Given the description of an element on the screen output the (x, y) to click on. 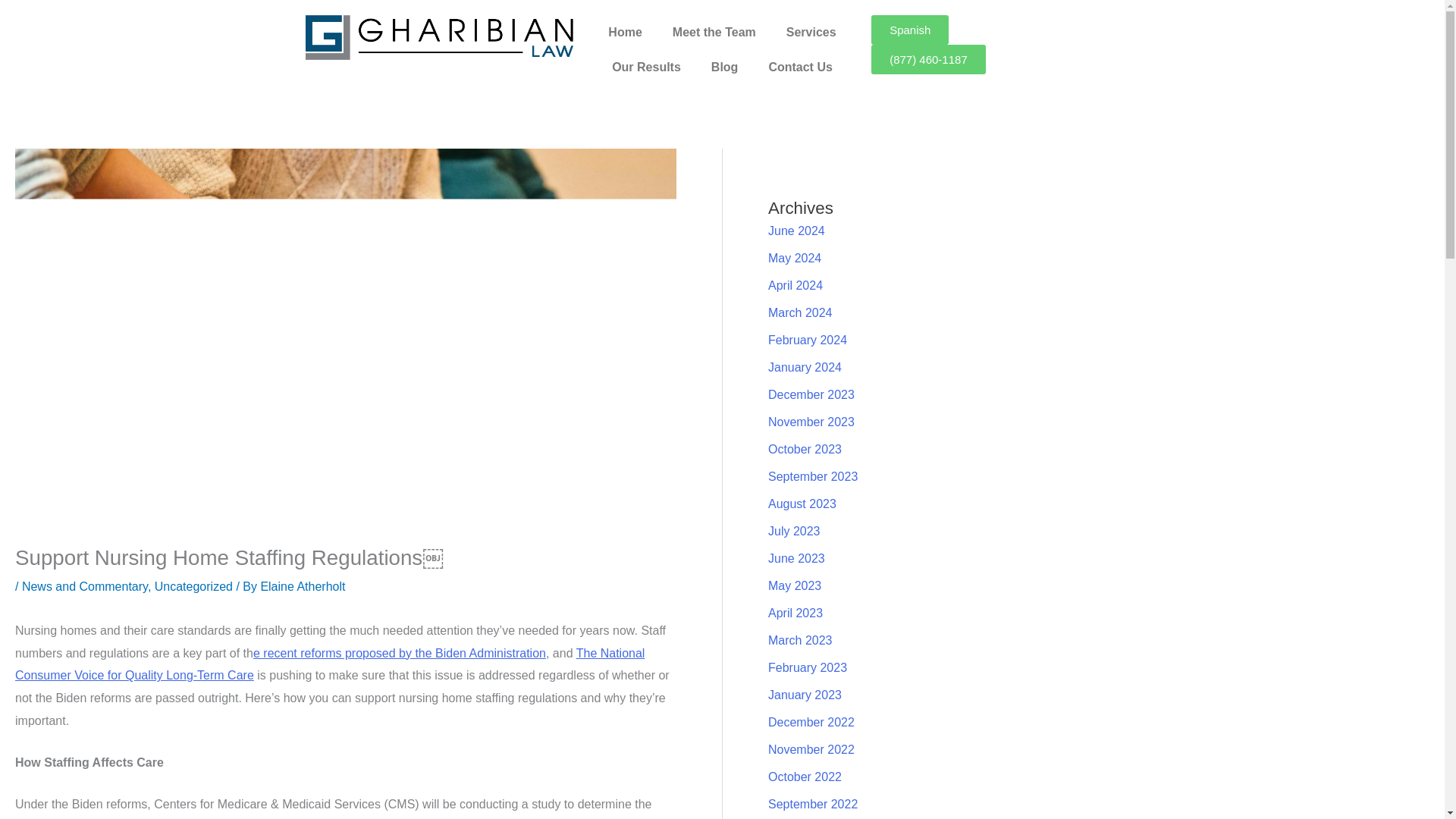
Meet the Team (714, 32)
Home (624, 32)
Contact Us (799, 67)
Blog (724, 67)
Spanish (909, 30)
View all posts by Elaine Atherholt (302, 585)
Our Results (645, 67)
Services (811, 32)
